Given the description of an element on the screen output the (x, y) to click on. 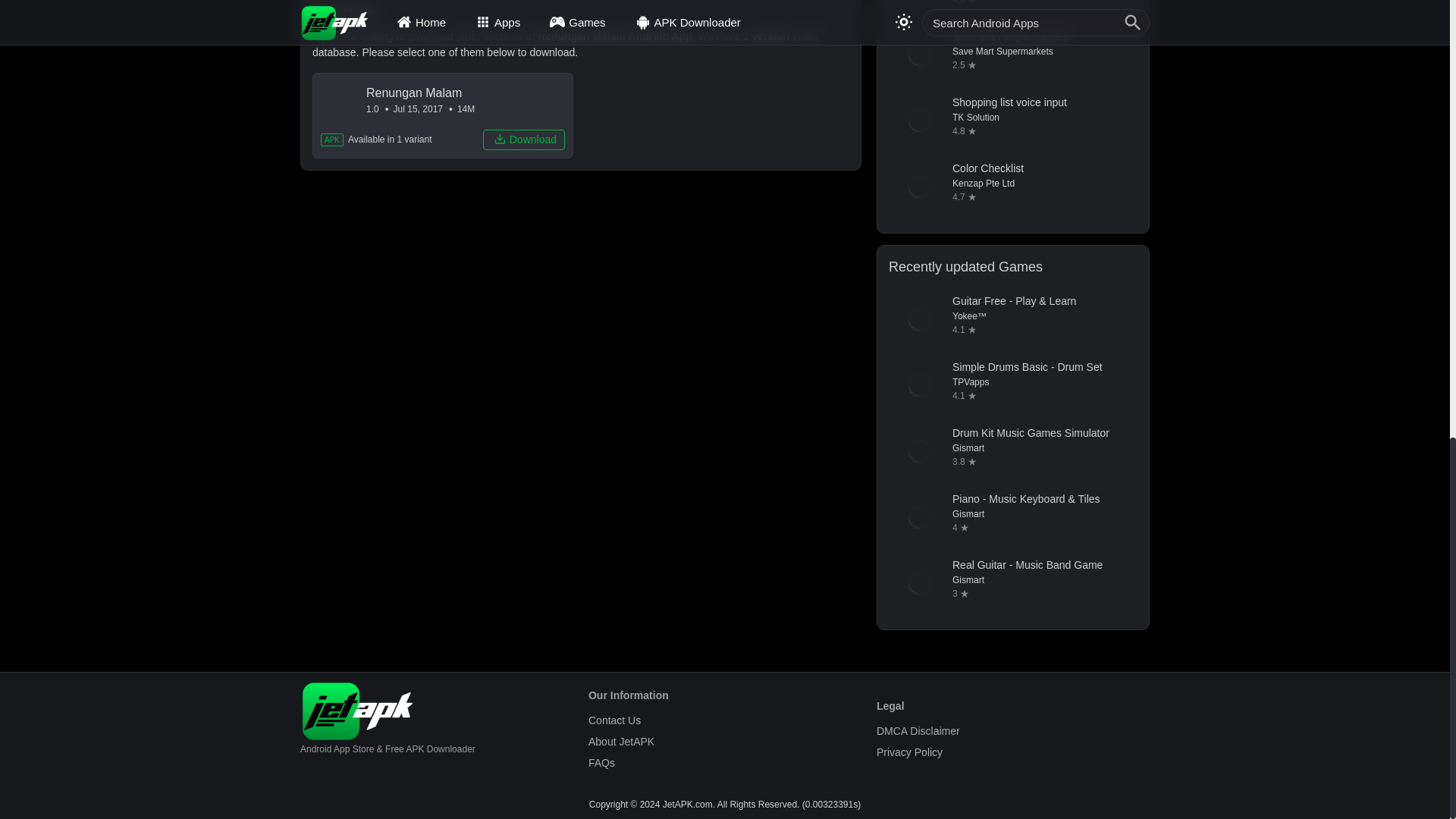
Drum Kit Music Games Simulator 3.45.2 Android APK (1012, 451)
Color Checklist 1.8 Android APK (1012, 186)
Save Mart Supermarkets 4.8.3 Android APK (1012, 54)
Simple Drums Basic - Drum Set 1.3.9 Android APK (1012, 384)
Dillons 71.3 Android APK (1012, 9)
Renungan Malam 1.0 older version APK (443, 115)
Shopping list voice input Latest Android APK (1012, 120)
